Given the description of an element on the screen output the (x, y) to click on. 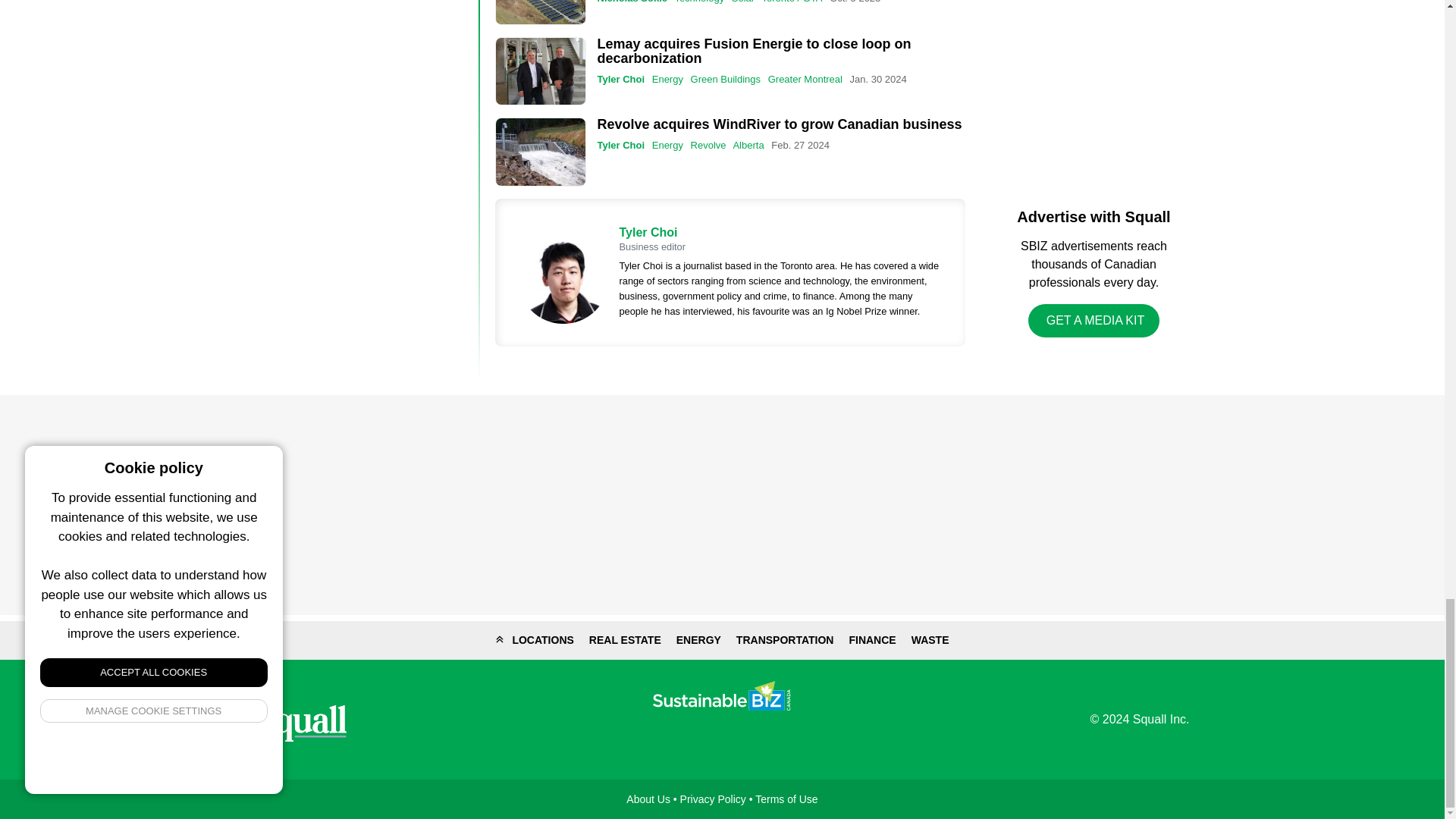
Revolve acquires WindRiver to grow Canadian business (540, 151)
Revolve acquires WindRiver to grow Canadian business (779, 124)
